Given the description of an element on the screen output the (x, y) to click on. 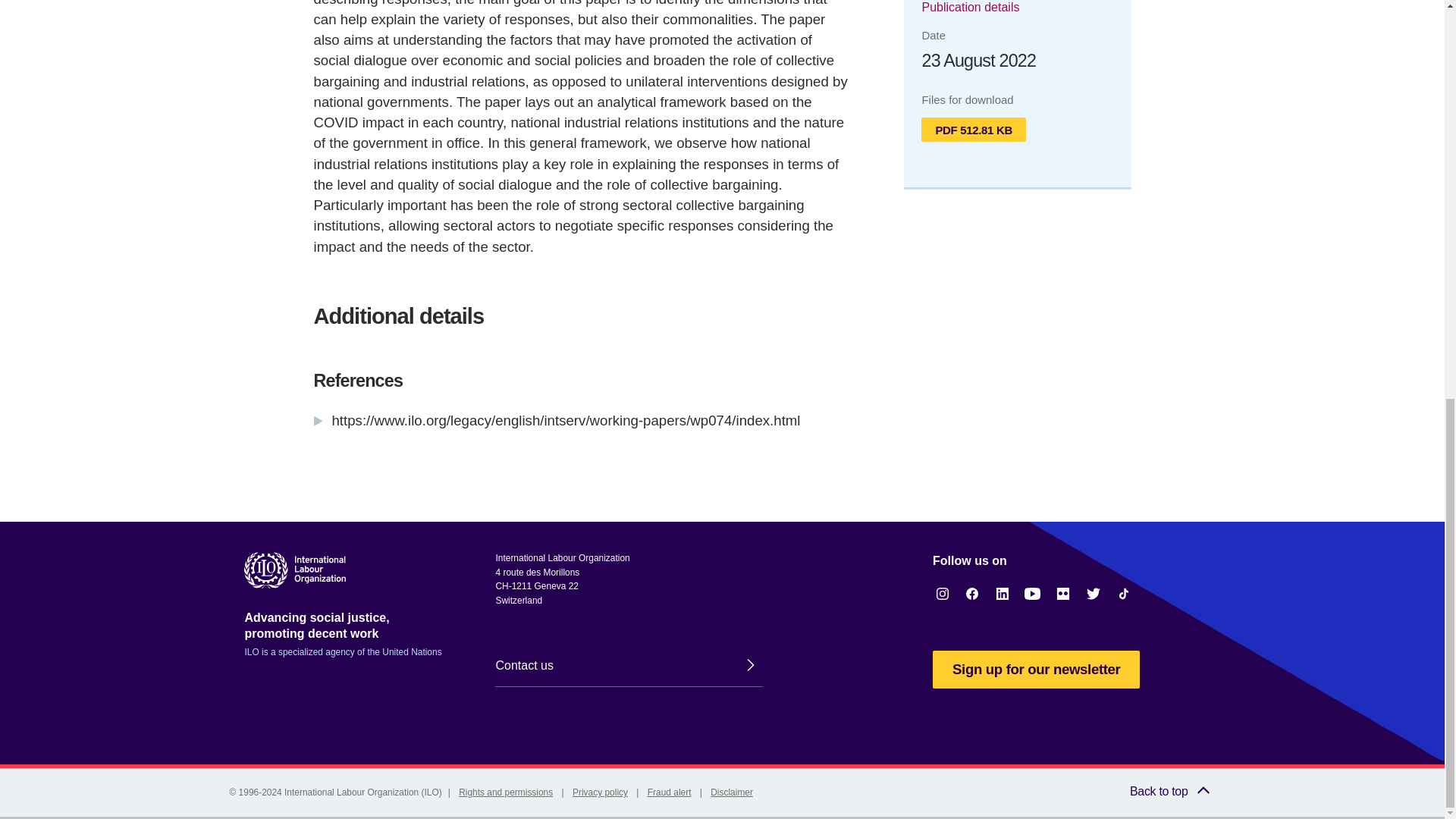
Youtube (1032, 593)
Linkedin (1001, 593)
Tiktok (1123, 593)
Twitter (1093, 593)
Flickr (1062, 593)
Facebook (971, 593)
Instagram (941, 593)
